Given the description of an element on the screen output the (x, y) to click on. 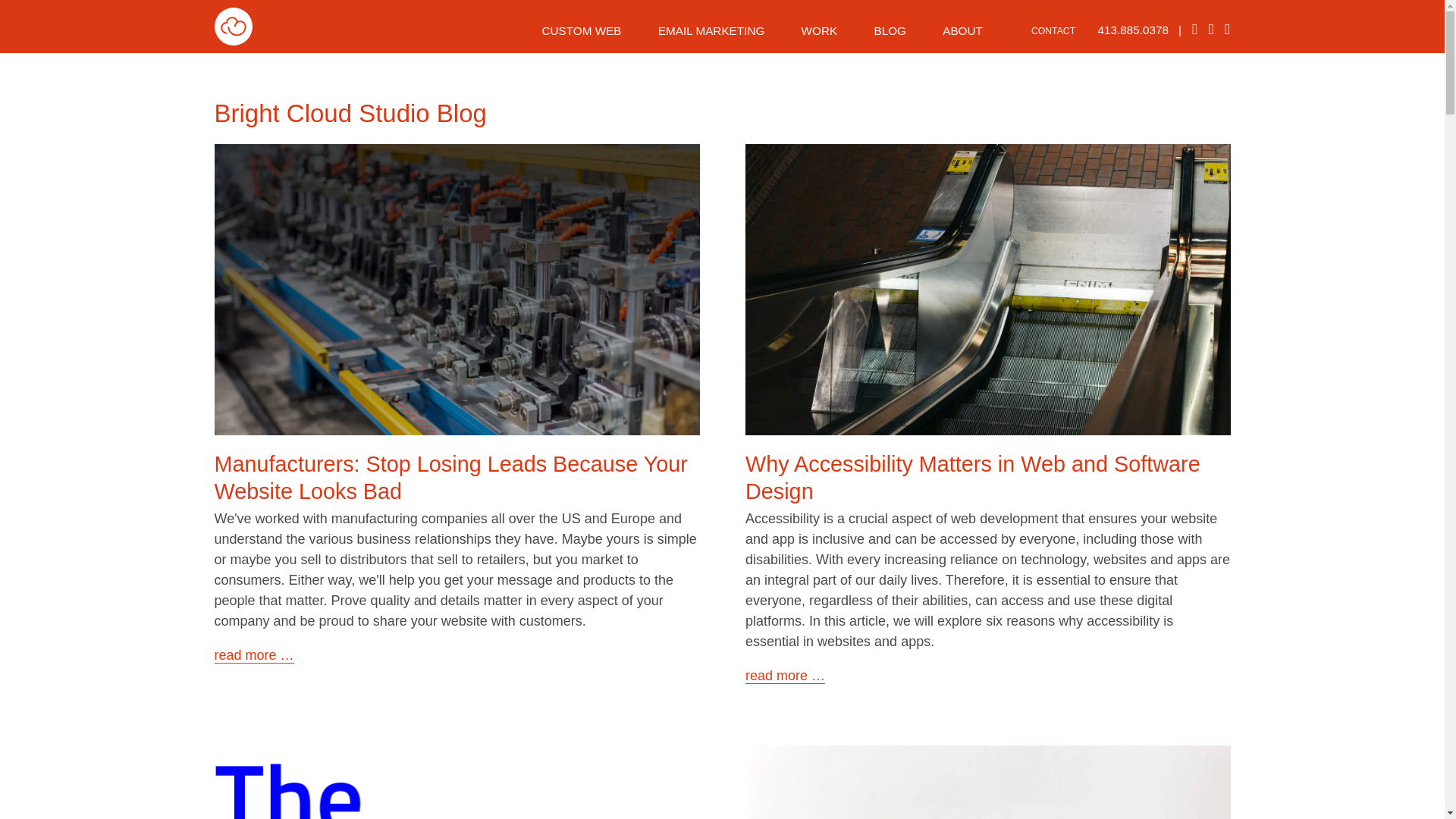
Email Marketing and Design (711, 29)
Web Design and Development in Westfield Massachusetts (580, 29)
413.885.0378 (1132, 29)
Work (819, 29)
Contact Bright Cloud Studio (962, 29)
Netty Award Badge (456, 787)
CUSTOM WEB (580, 29)
Bright Cloud Studio (232, 40)
WORK (819, 29)
ABOUT (962, 29)
